Given the description of an element on the screen output the (x, y) to click on. 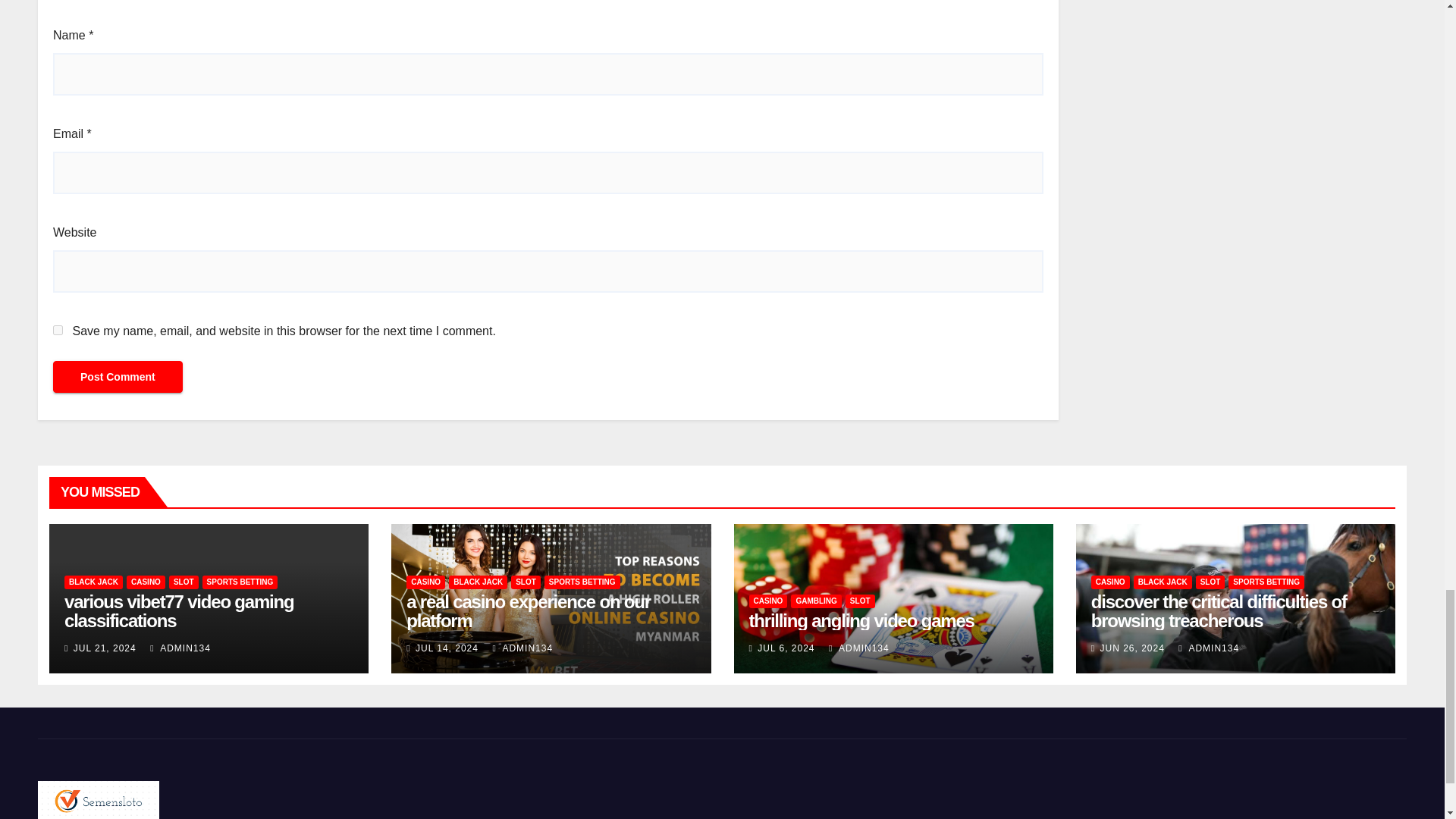
Post Comment (117, 377)
yes (57, 329)
Permalink to: thrilling angling video games (861, 620)
Permalink to: various vibet77 video gaming classifications (179, 610)
Permalink to: a real casino experience on our platform (528, 610)
